Given the description of an element on the screen output the (x, y) to click on. 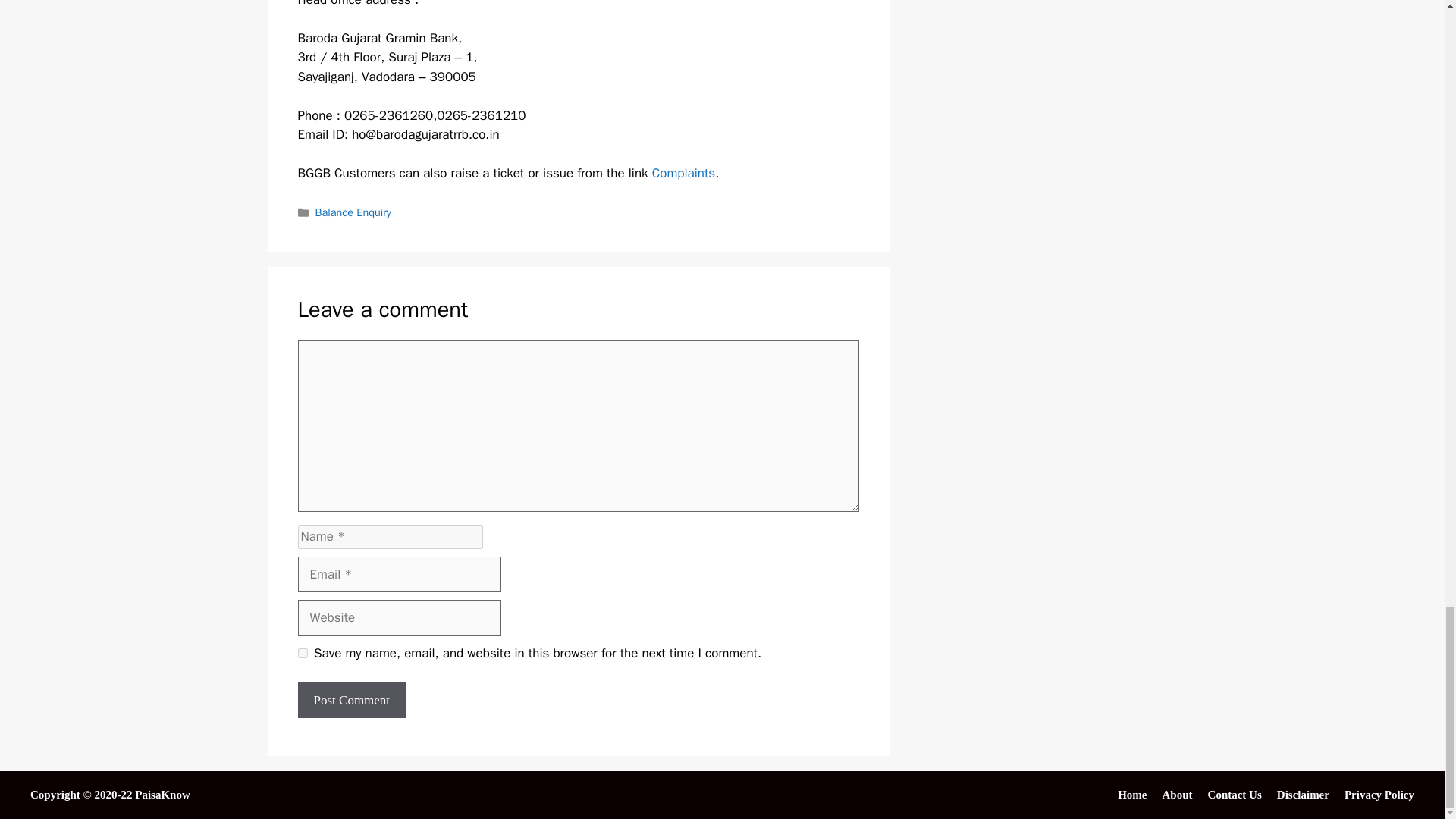
Post Comment (351, 700)
yes (302, 653)
Complaints (684, 172)
